Given the description of an element on the screen output the (x, y) to click on. 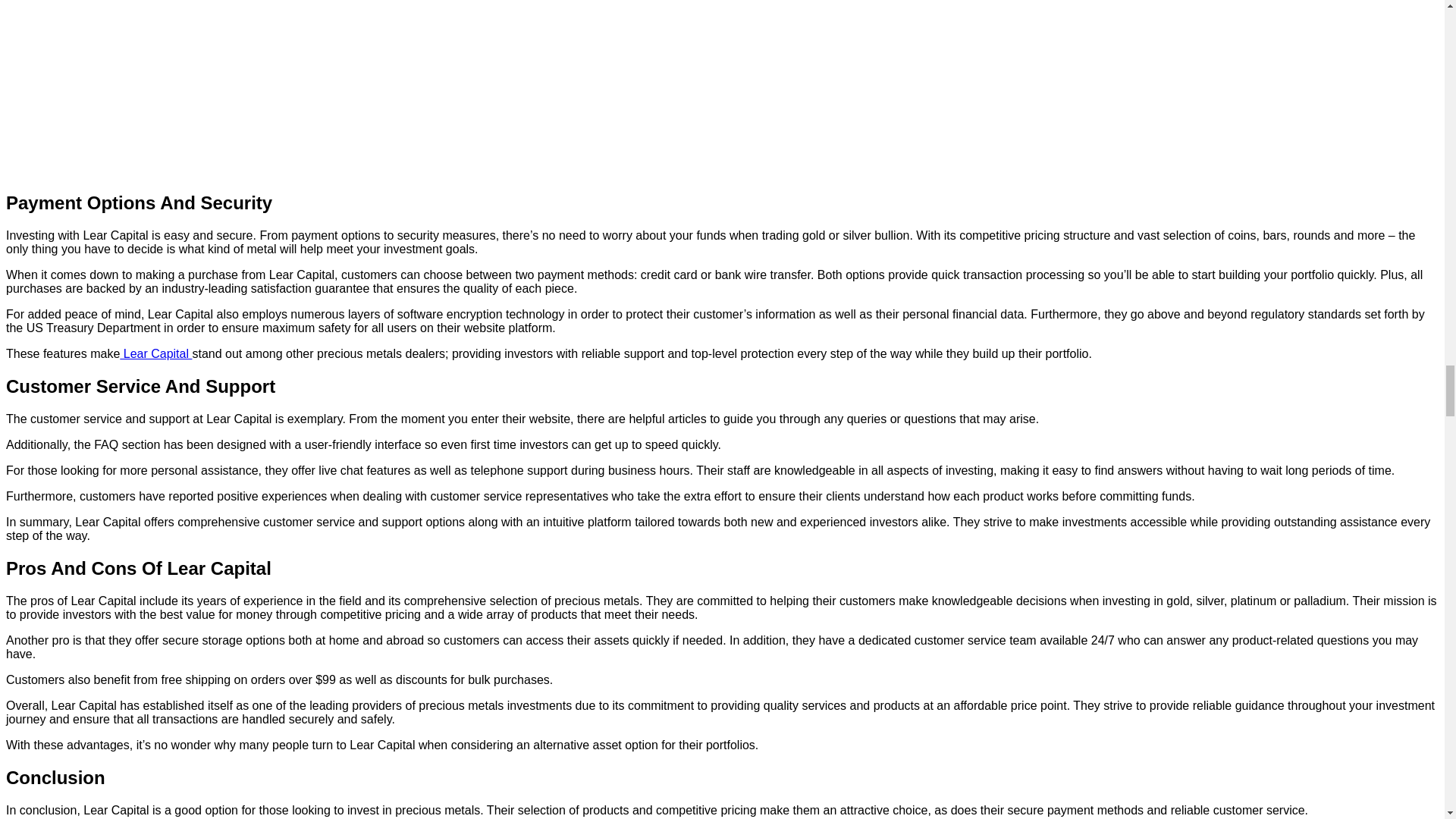
Lear Capital (155, 353)
Why Choose Lear Capital (316, 87)
